Given the description of an element on the screen output the (x, y) to click on. 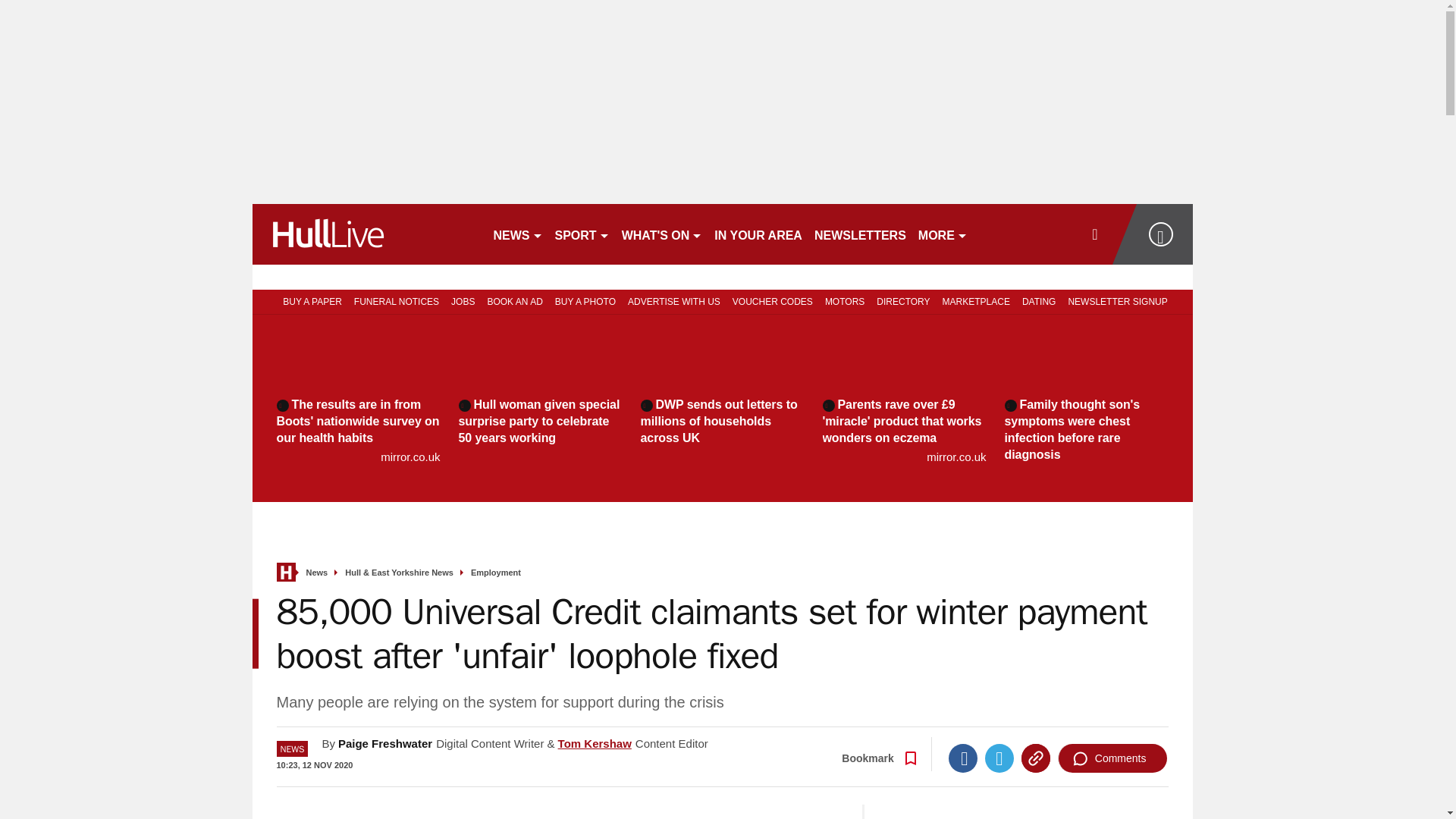
Facebook (962, 758)
hulldailymail (365, 233)
MORE (943, 233)
WHAT'S ON (662, 233)
NEWS (517, 233)
Twitter (999, 758)
SPORT (581, 233)
NEWSLETTERS (860, 233)
IN YOUR AREA (757, 233)
Comments (1112, 758)
